Given the description of an element on the screen output the (x, y) to click on. 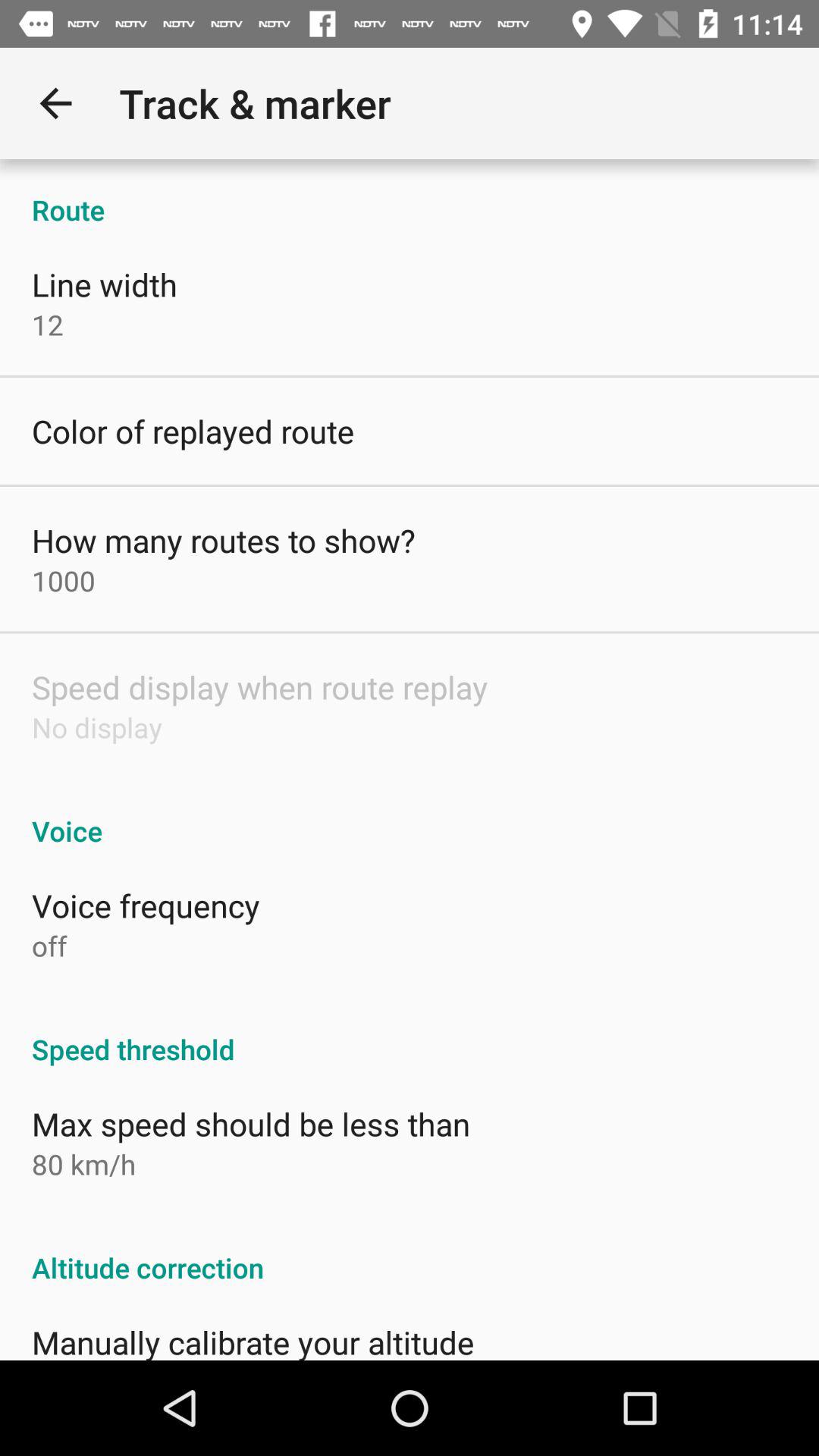
turn off speed threshold item (409, 1033)
